Given the description of an element on the screen output the (x, y) to click on. 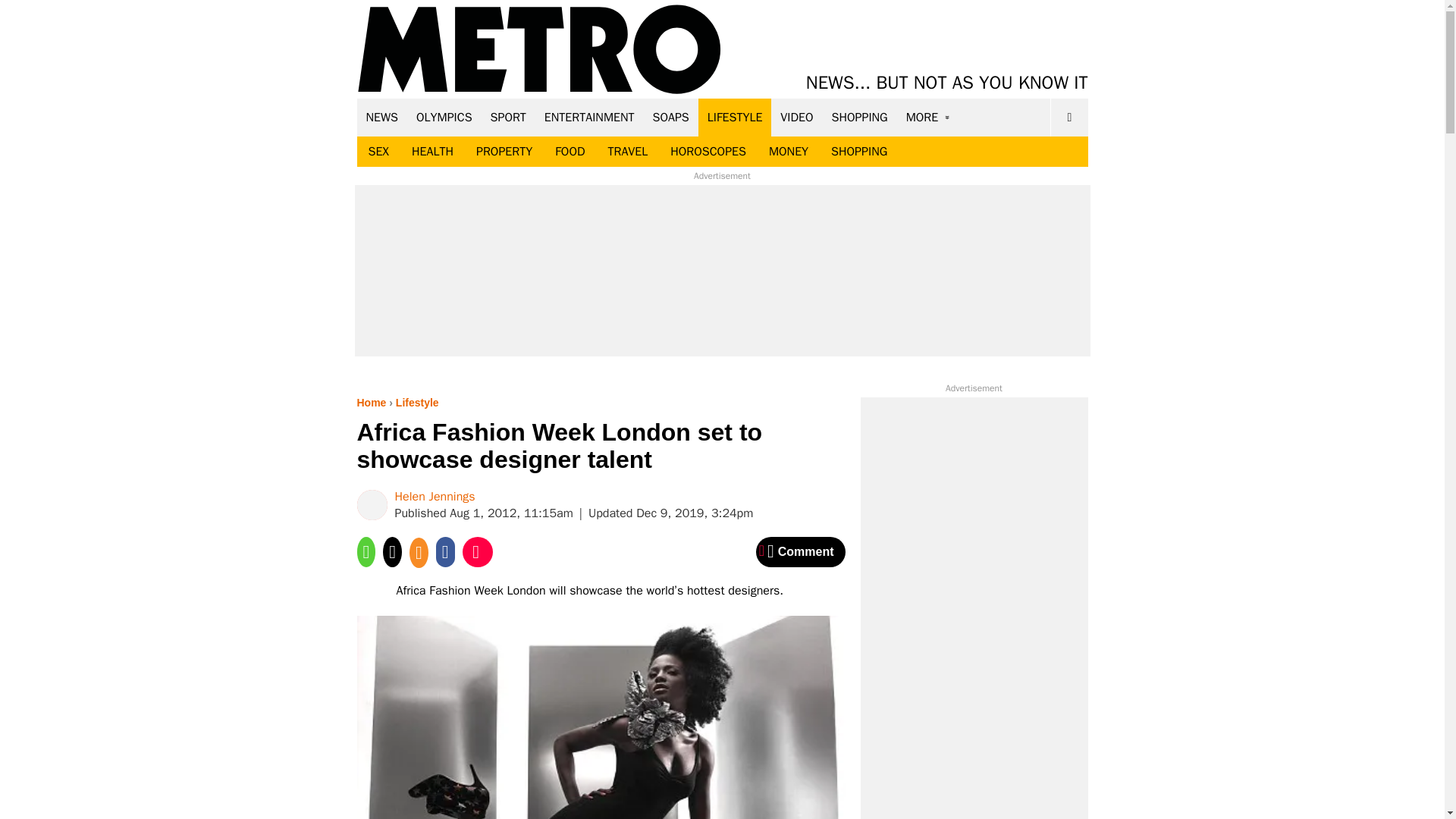
SPORT (508, 117)
ENTERTAINMENT (589, 117)
PROPERTY (503, 151)
FOOD (569, 151)
OLYMPICS (444, 117)
Metro (539, 50)
SOAPS (670, 117)
SEX (377, 151)
HEALTH (432, 151)
LIFESTYLE (734, 117)
NEWS (381, 117)
